Given the description of an element on the screen output the (x, y) to click on. 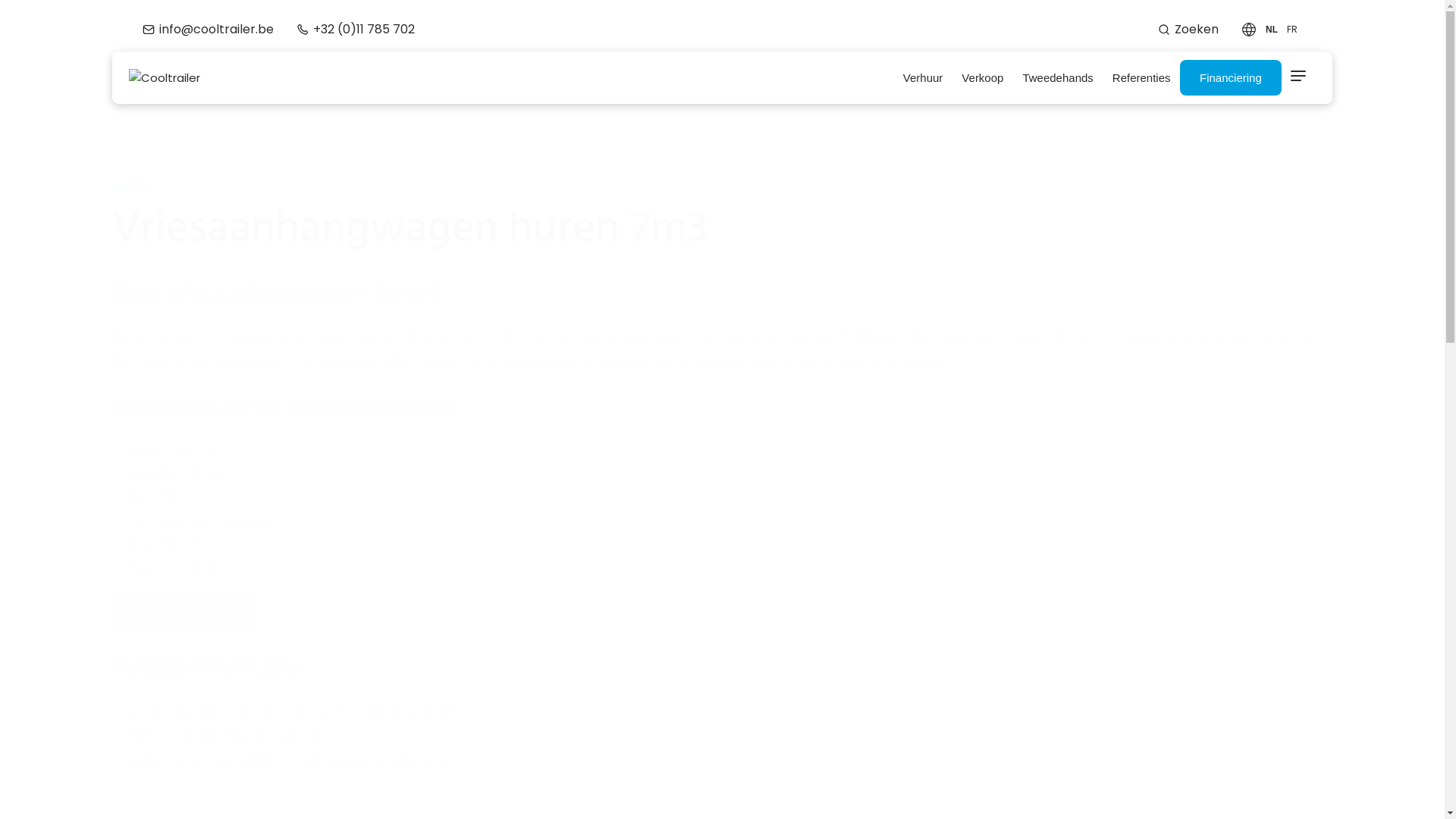
Referenties Element type: text (1140, 78)
+32 (0)11 785 702 Element type: text (355, 29)
Cooltrailer Element type: hover (164, 77)
Tweedehands Element type: text (1057, 78)
NL Element type: text (1271, 29)
info@cooltrailer.be Element type: text (207, 29)
Zoeken Element type: text (1187, 29)
Toggle navigation Element type: hover (1298, 77)
FR Element type: text (1292, 29)
Verhuur Element type: text (922, 78)
Vriezen Element type: text (131, 187)
Financiering Element type: text (1230, 77)
Vraag hier uw offerte Element type: text (184, 612)
stroomgroep Element type: text (371, 759)
rekken Element type: text (259, 759)
Verkoop Element type: text (982, 78)
